Given the description of an element on the screen output the (x, y) to click on. 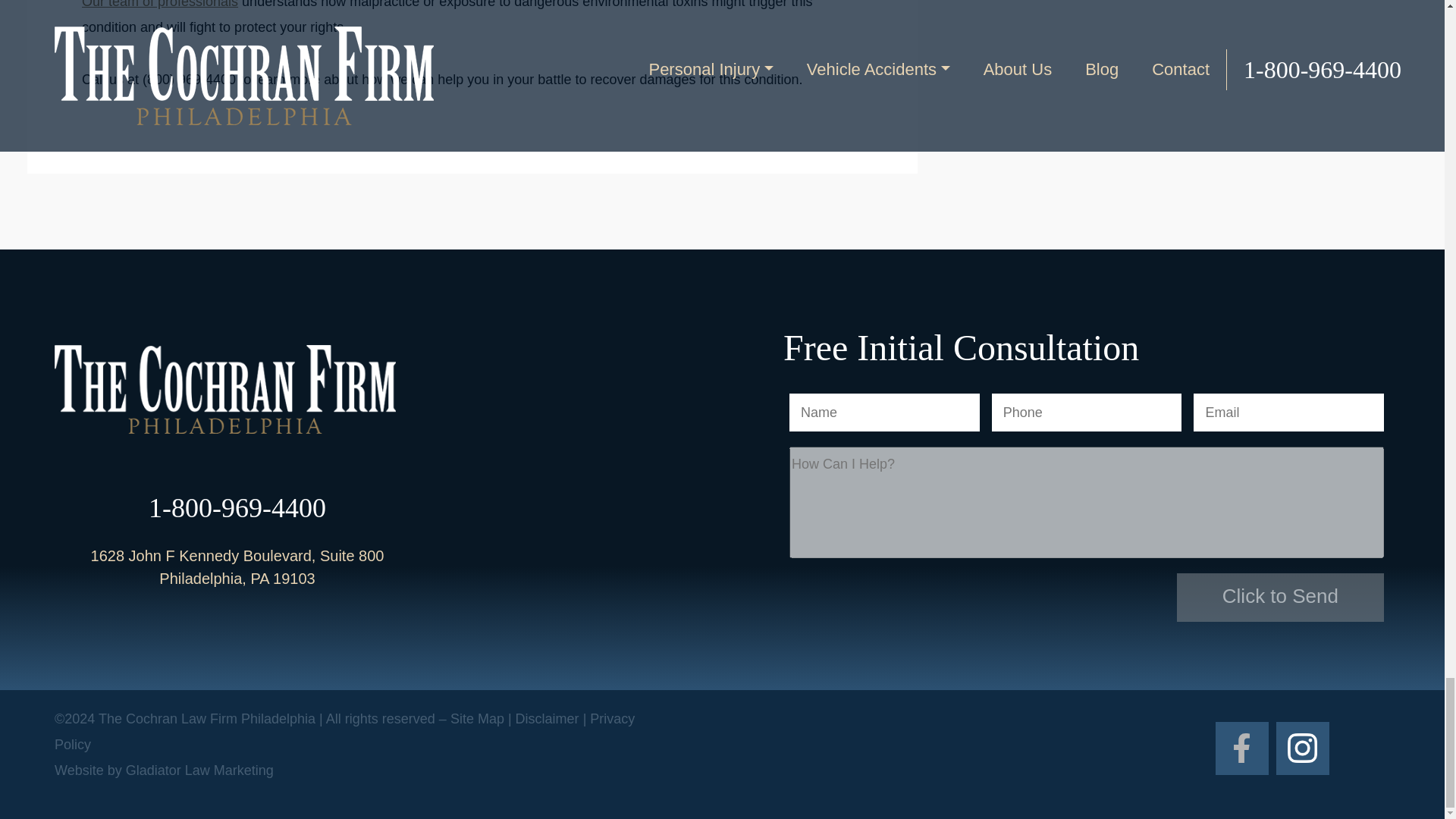
Click to Send (1280, 597)
Our team of professionals (159, 4)
